Given the description of an element on the screen output the (x, y) to click on. 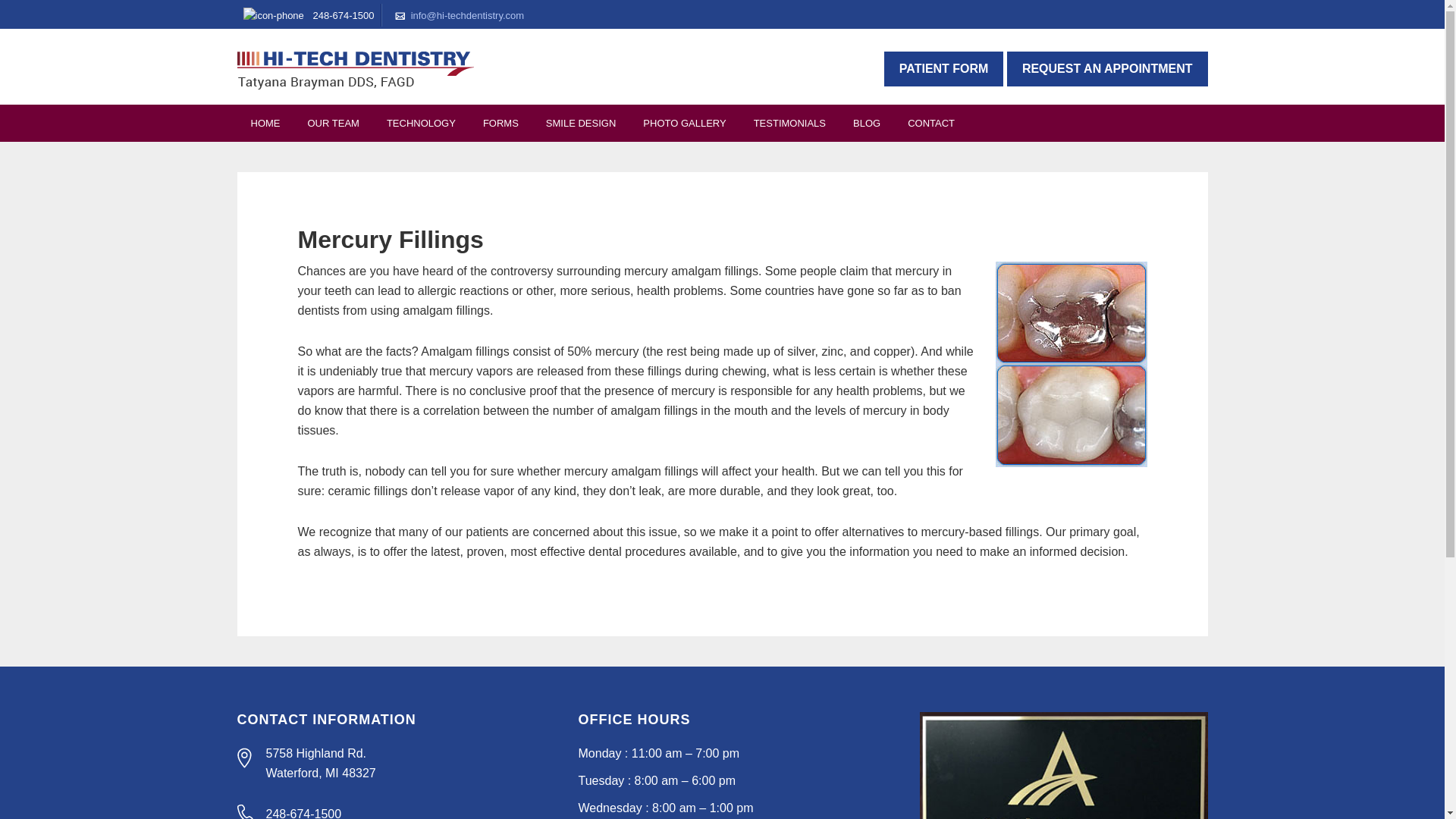
HOME (264, 122)
CONTACT (930, 122)
SMILE DESIGN (580, 122)
TESTIMONIALS (789, 122)
OUR TEAM (333, 122)
TECHNOLOGY (420, 122)
REQUEST AN APPOINTMENT (1107, 68)
FORMS (500, 122)
PATIENT FORM (943, 68)
Hi-Tech Dentistry (354, 70)
